Given the description of an element on the screen output the (x, y) to click on. 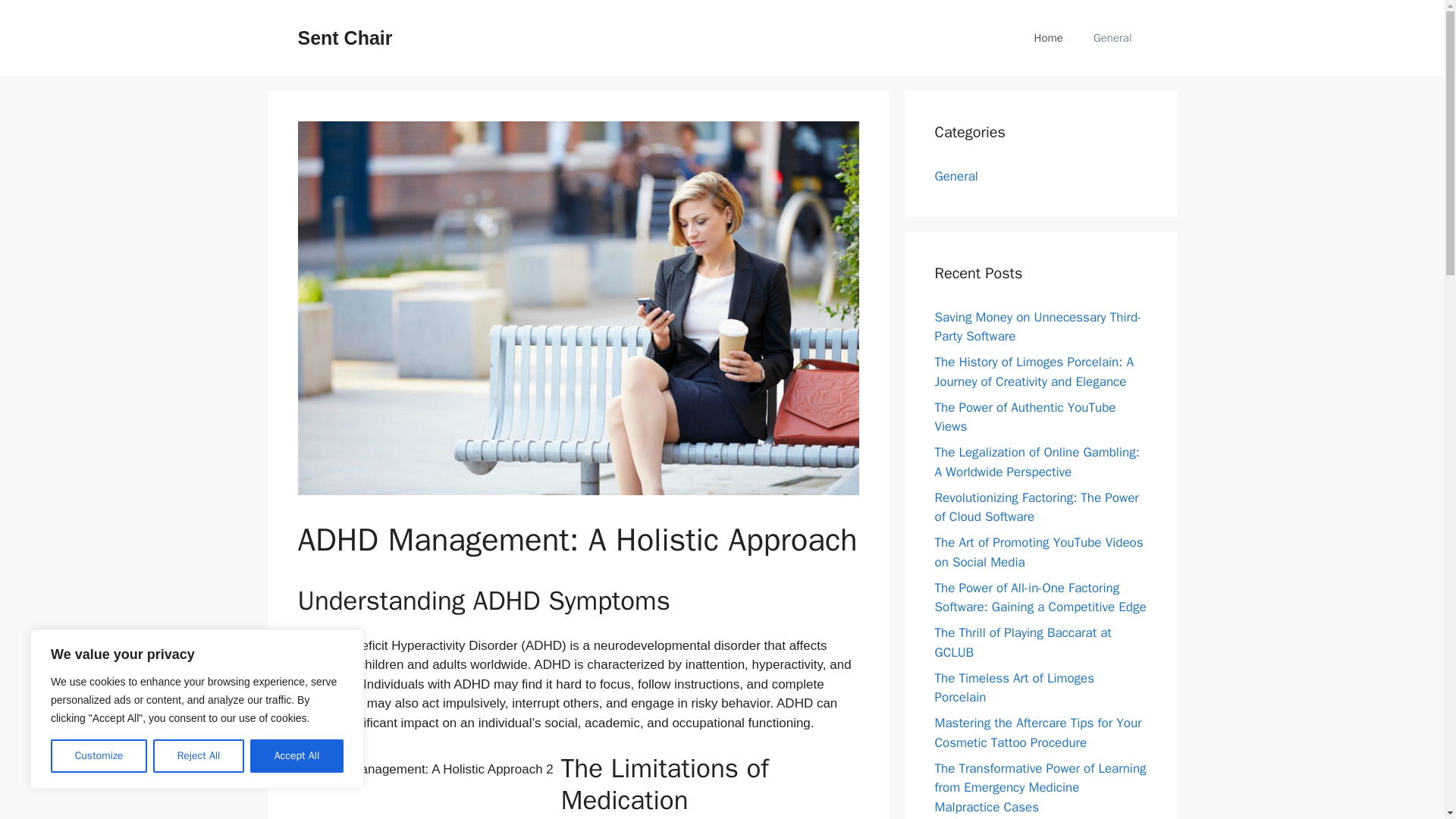
The Power of Authentic YouTube Views (1024, 416)
Reject All (198, 756)
Accept All (296, 756)
The Thrill of Playing Baccarat at GCLUB (1022, 642)
The Timeless Art of Limoges Porcelain (1014, 687)
General (955, 176)
Saving Money on Unnecessary Third-Party Software (1037, 326)
Revolutionizing Factoring: The Power of Cloud Software (1036, 507)
General (1112, 37)
Customize (98, 756)
Sent Chair (344, 37)
The Legalization of Online Gambling: A Worldwide Perspective (1036, 461)
Home (1048, 37)
